Given the description of an element on the screen output the (x, y) to click on. 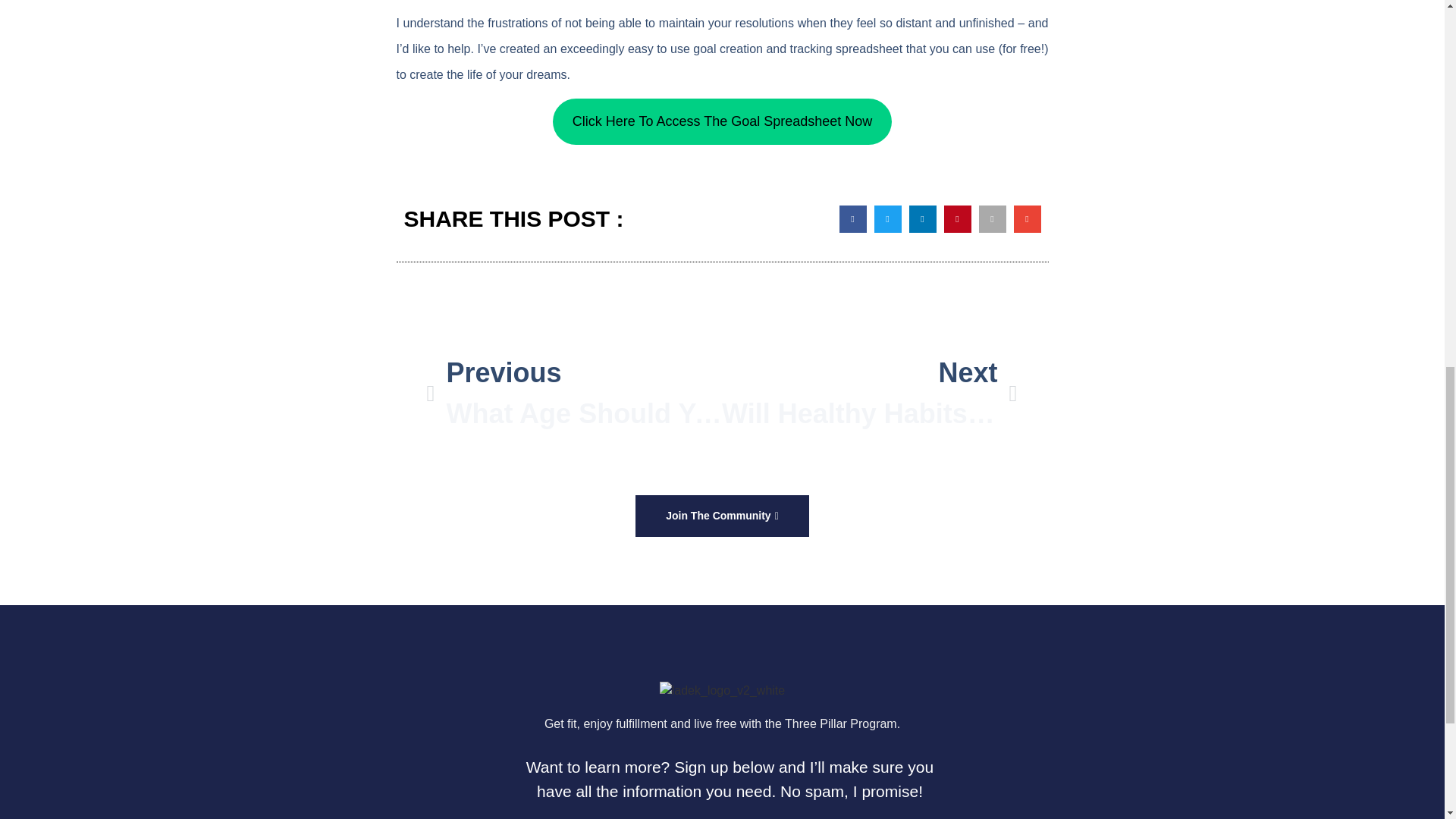
Click Here To Access The Goal Spreadsheet Now (722, 121)
Join The Community (721, 516)
